Given the description of an element on the screen output the (x, y) to click on. 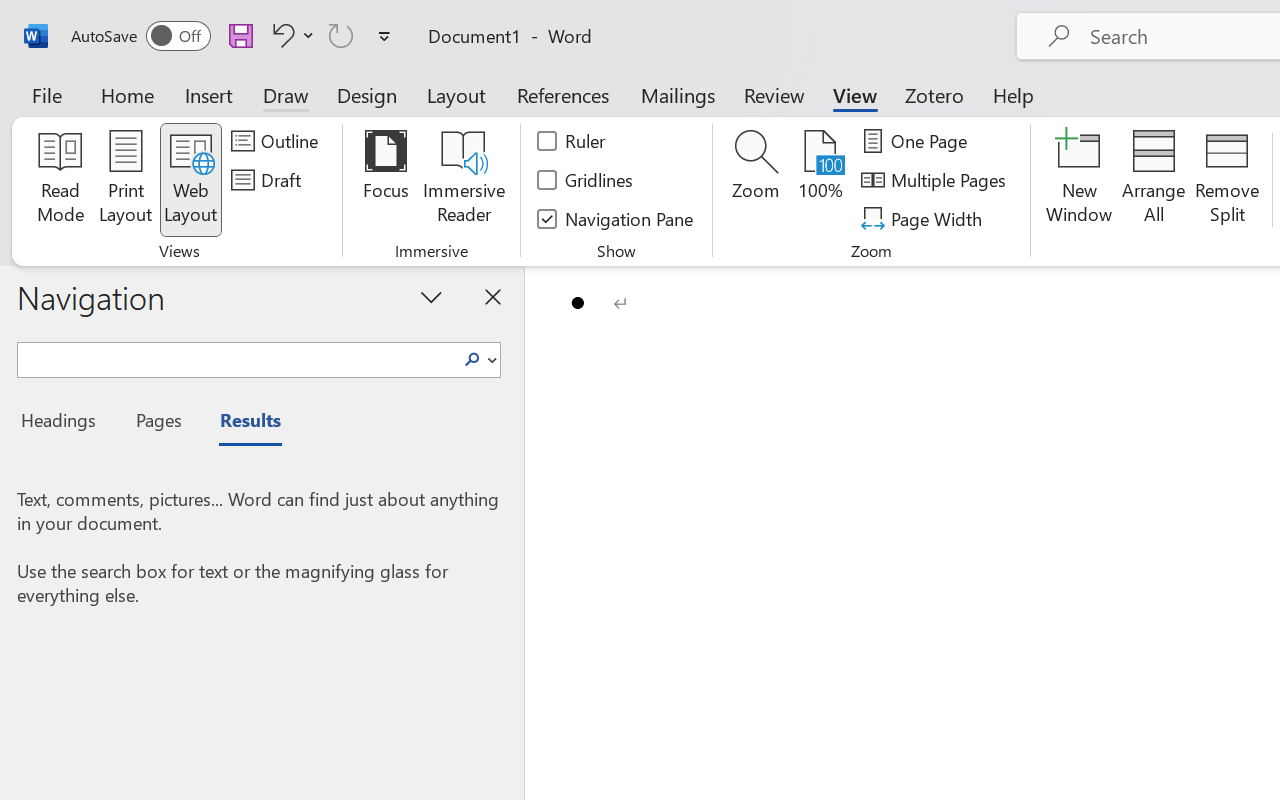
Outline (278, 141)
Navigation Pane (616, 218)
Immersive Reader (464, 179)
Draft (269, 179)
Multiple Pages (936, 179)
New Window (1079, 179)
Arrange All (1153, 179)
Can't Repeat (341, 35)
Ruler (572, 141)
